Given the description of an element on the screen output the (x, y) to click on. 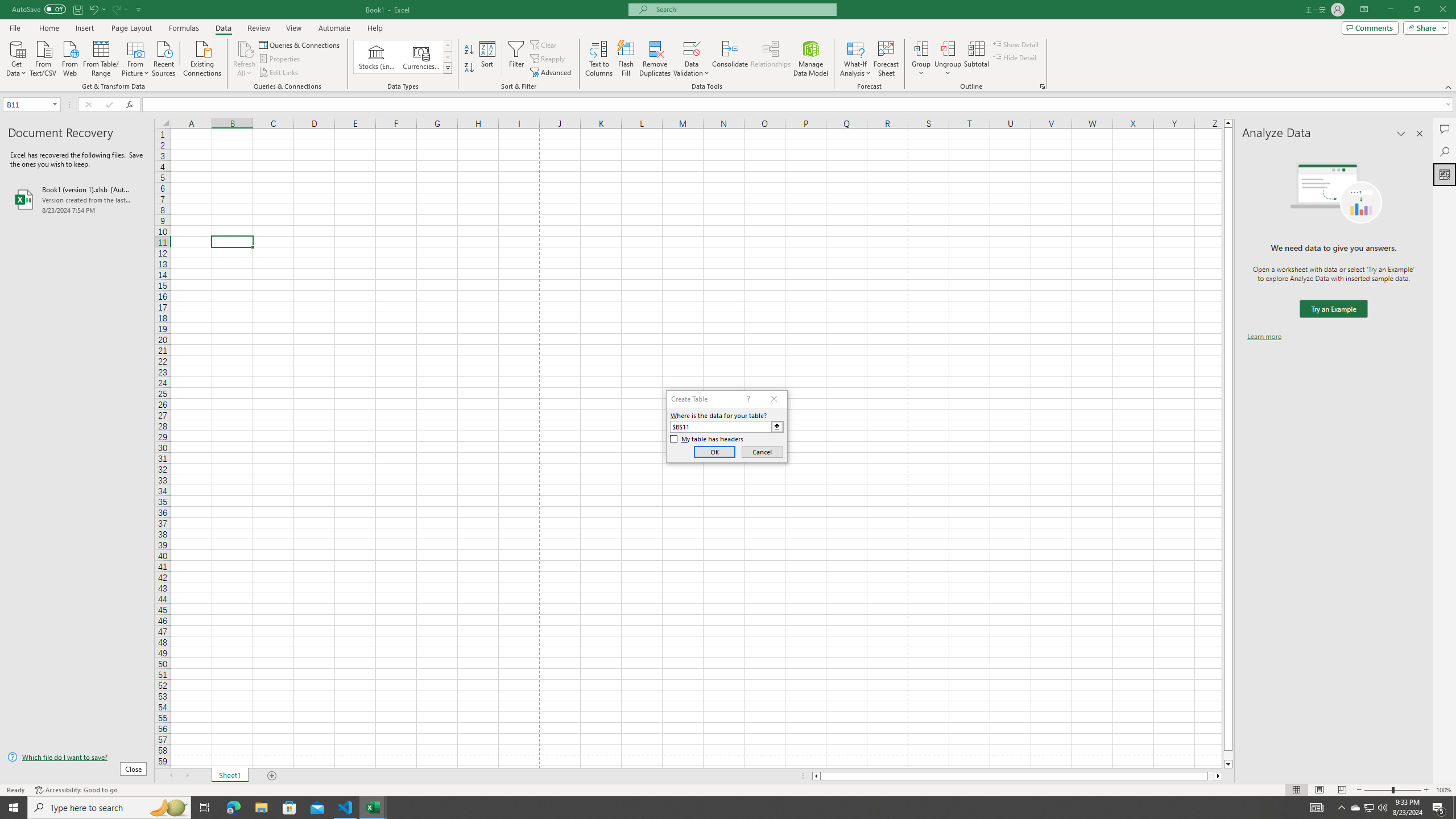
AutoSave (38, 9)
Forecast Sheet (885, 58)
Filter (515, 58)
What-If Analysis (855, 58)
Sort... (487, 58)
From Table/Range (100, 57)
Queries & Connections (300, 44)
Clear (544, 44)
Class: NetUIImage (447, 68)
We need data to give you answers. Try an Example (1333, 308)
